Given the description of an element on the screen output the (x, y) to click on. 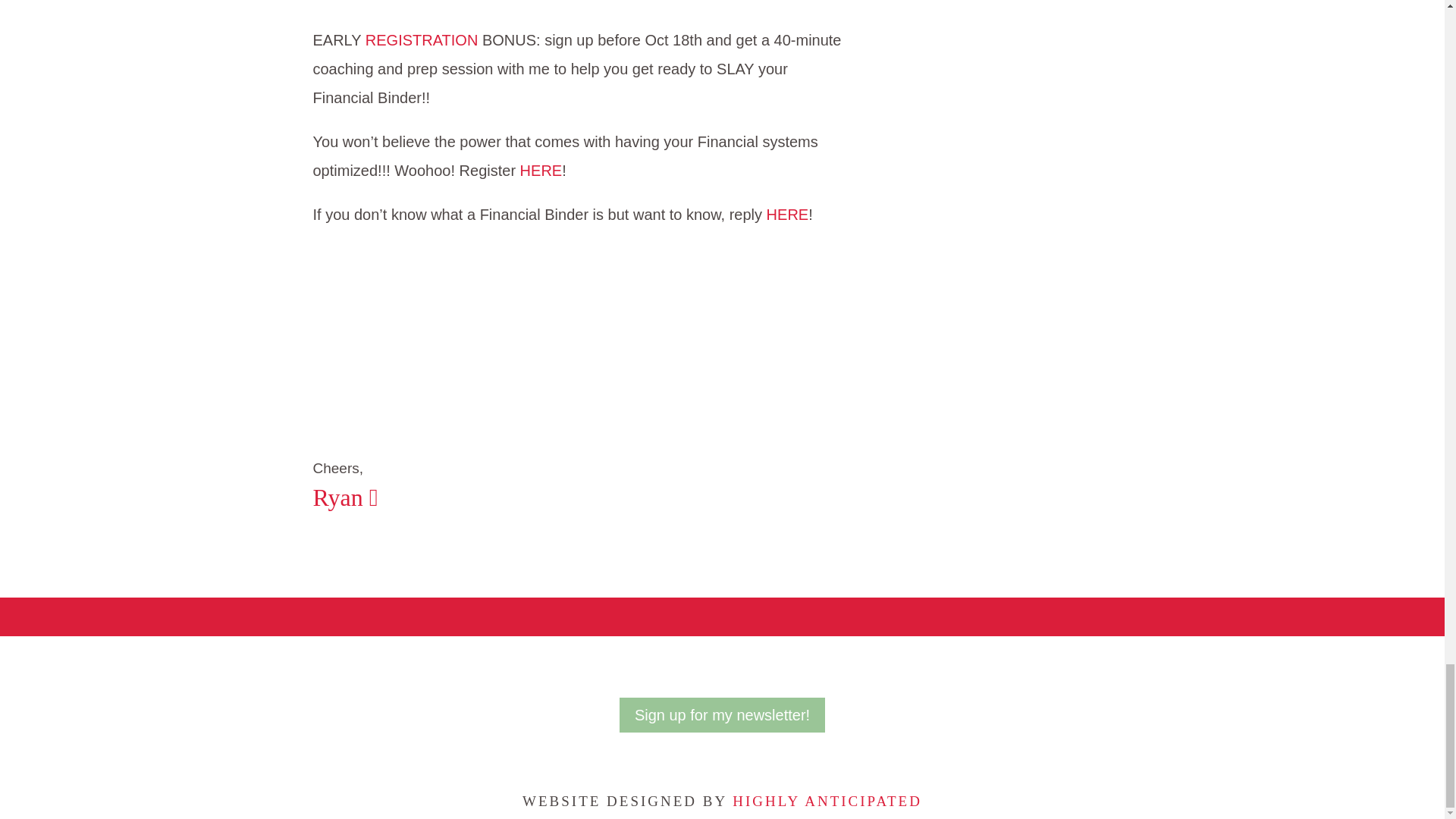
REGISTRATION (423, 39)
HERE (788, 214)
HERE (540, 170)
